Given the description of an element on the screen output the (x, y) to click on. 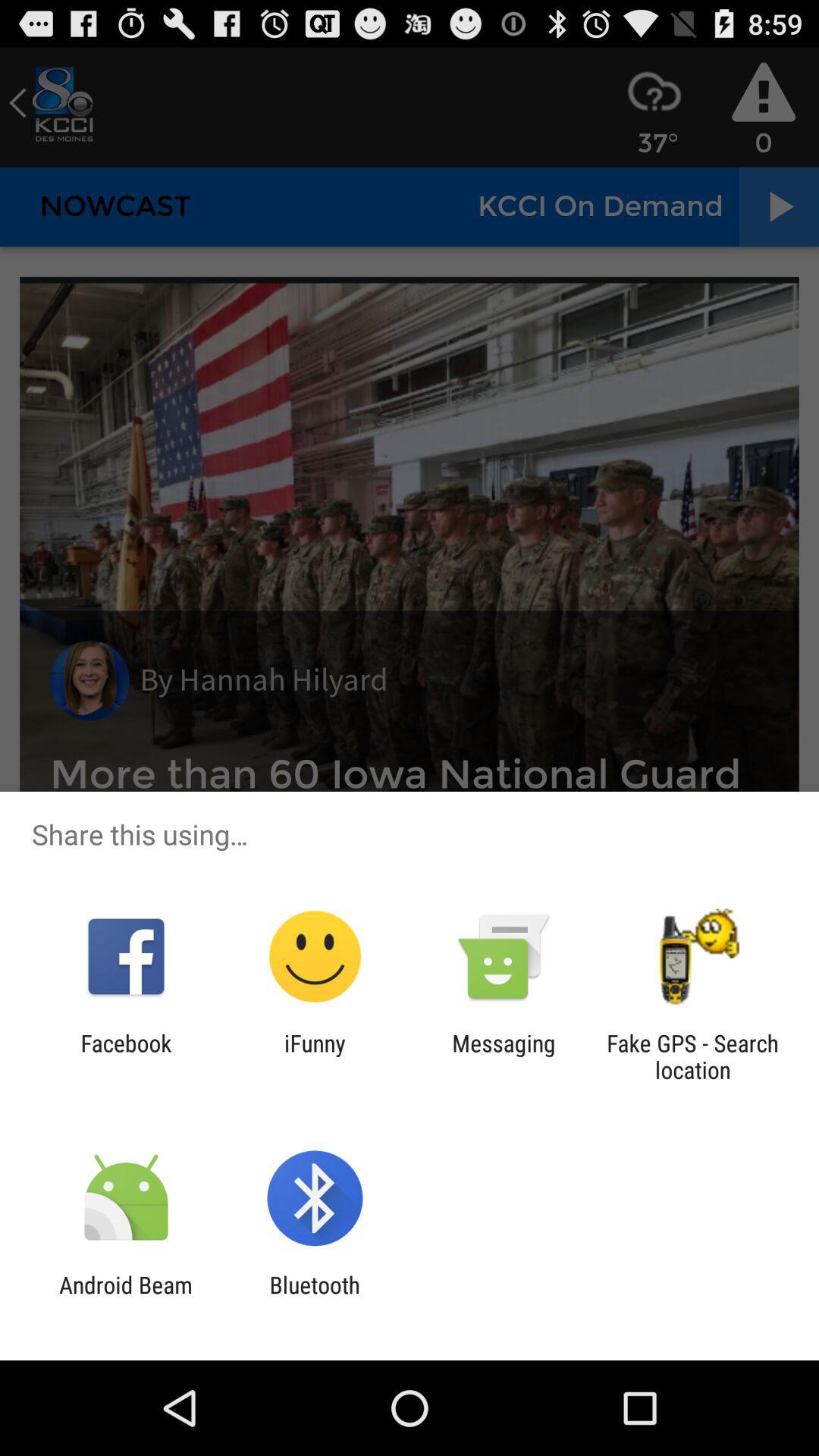
swipe until the messaging app (503, 1056)
